Given the description of an element on the screen output the (x, y) to click on. 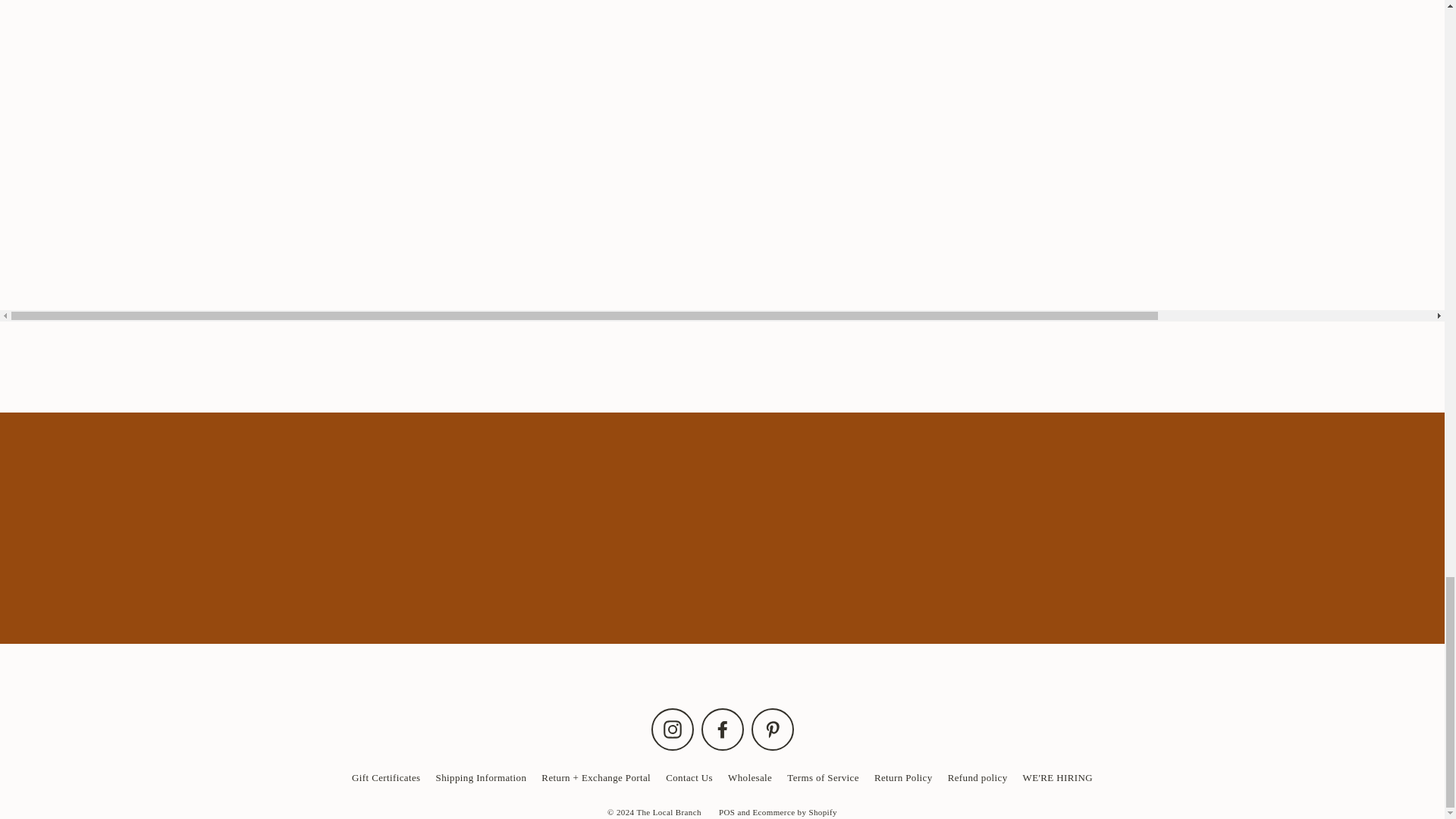
The Local Branch on Pinterest (772, 729)
The Local Branch on Facebook (721, 729)
The Local Branch on Instagram (671, 729)
